Given the description of an element on the screen output the (x, y) to click on. 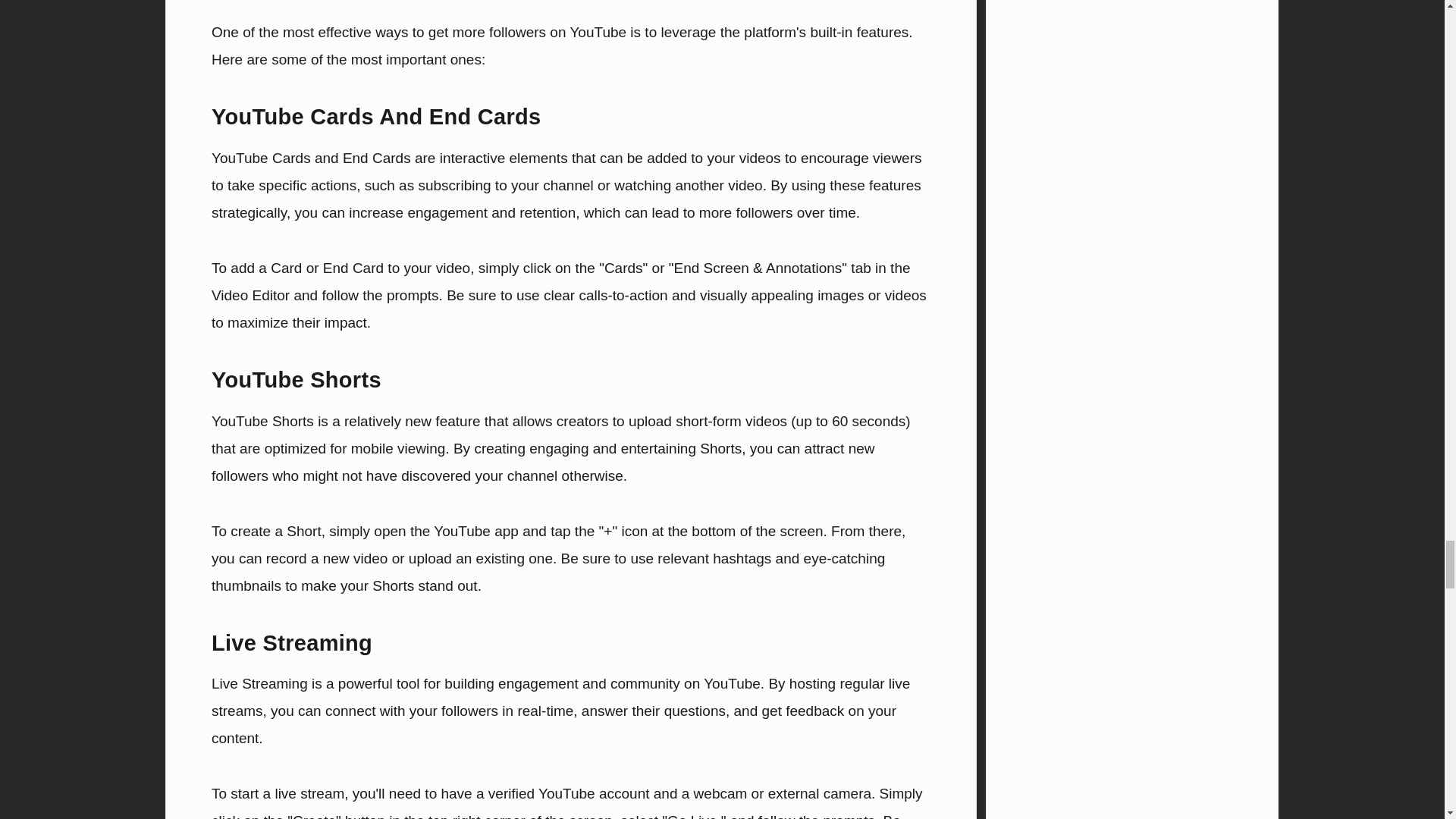
Shorts (720, 448)
YouTube Shorts (262, 421)
